Given the description of an element on the screen output the (x, y) to click on. 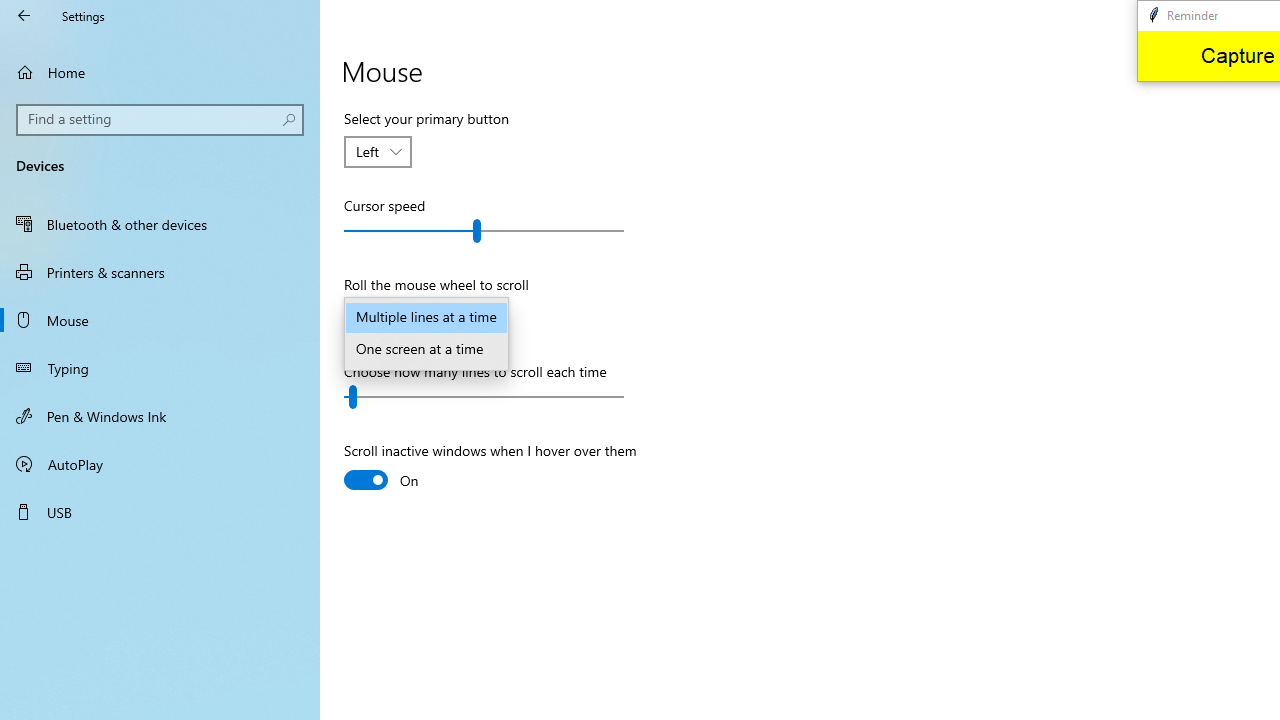
Typing (160, 367)
Mouse (160, 319)
AutoPlay (160, 463)
